Given the description of an element on the screen output the (x, y) to click on. 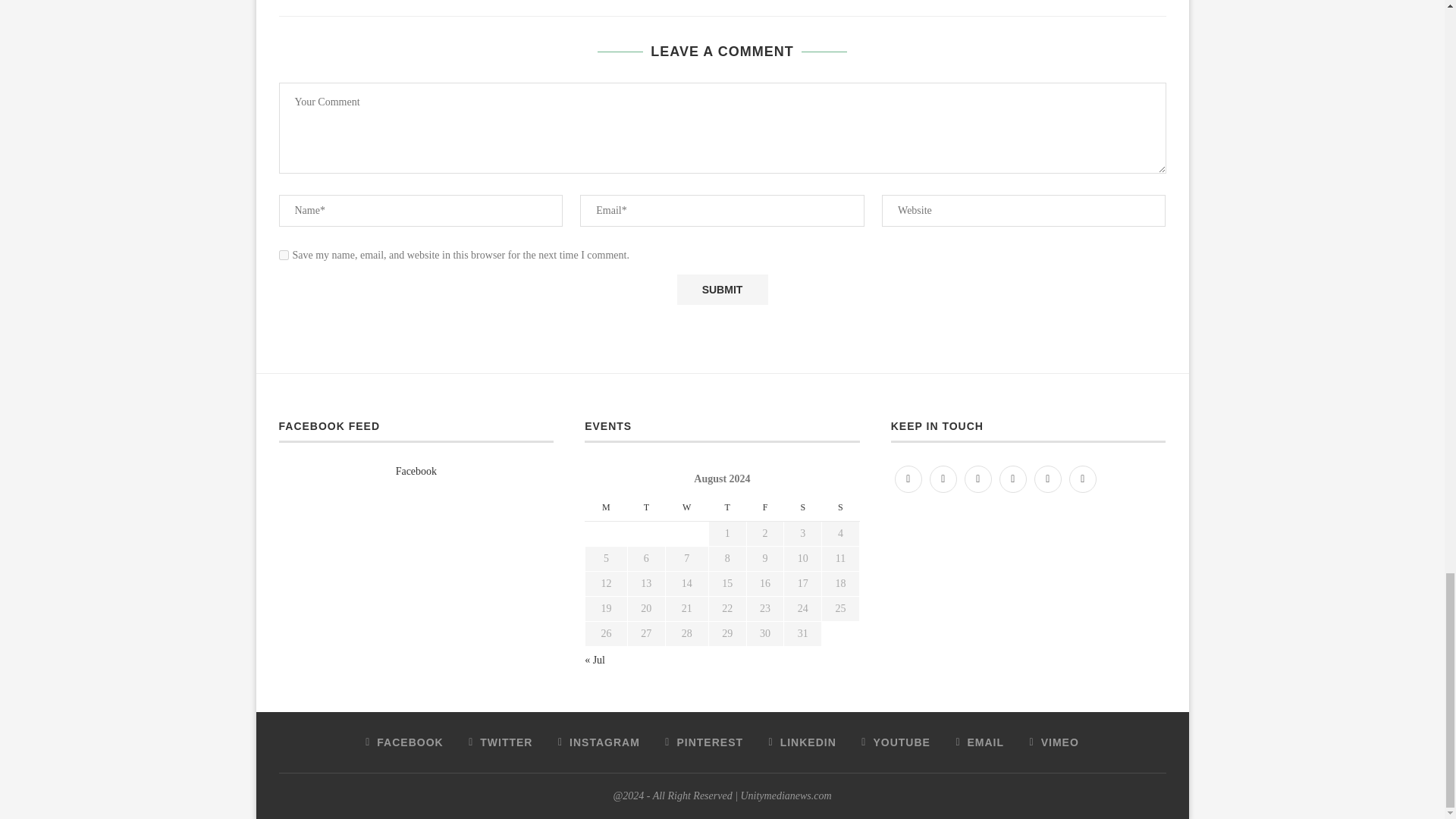
Tuesday (646, 507)
Submit (722, 289)
Monday (606, 507)
yes (283, 255)
